Given the description of an element on the screen output the (x, y) to click on. 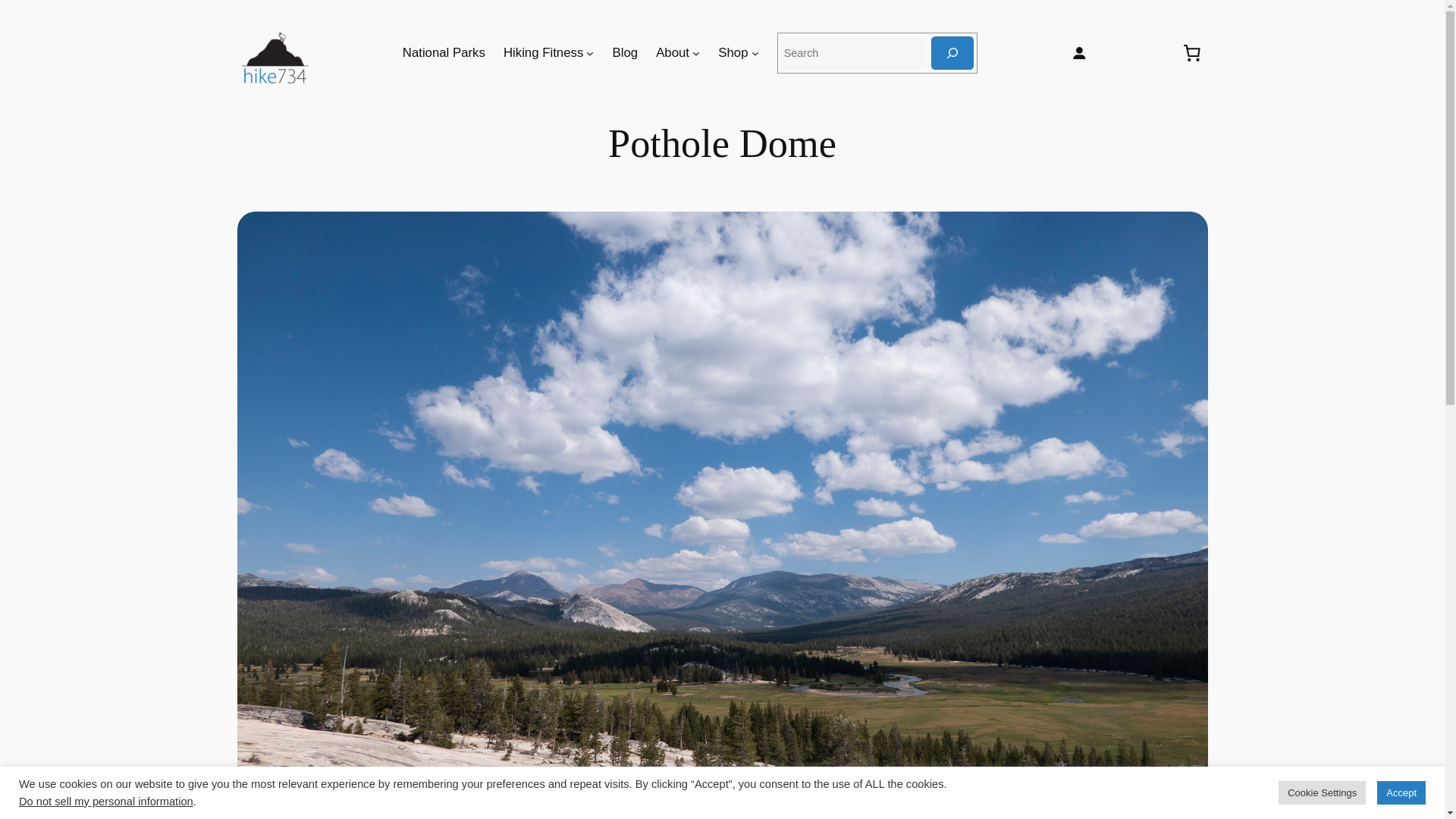
National Parks (443, 53)
About (672, 53)
Shop (732, 53)
Blog (625, 53)
Hiking Fitness (543, 53)
Hiking Fitness Posts (543, 53)
